Given the description of an element on the screen output the (x, y) to click on. 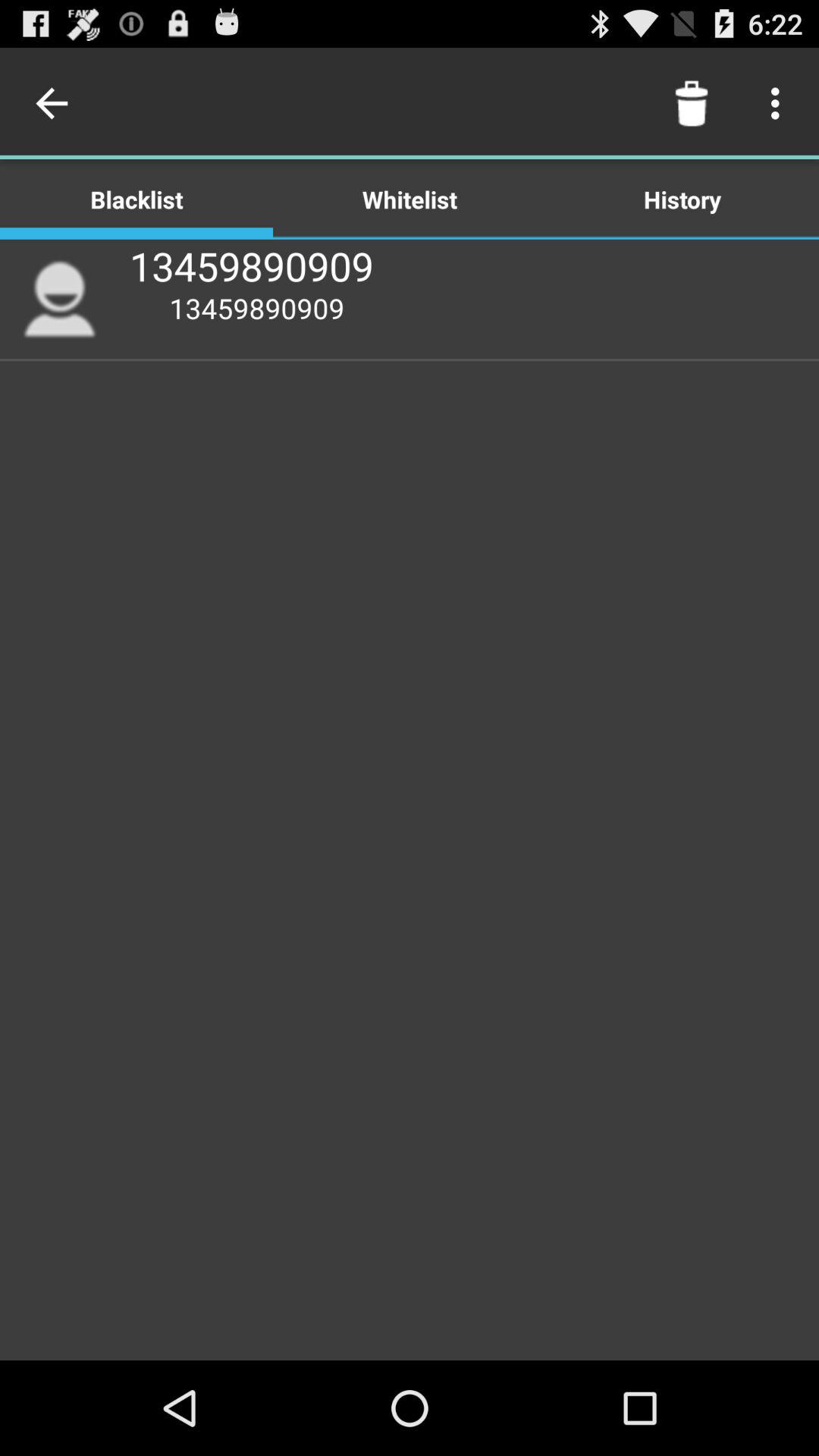
open the icon next to blacklist (409, 199)
